Given the description of an element on the screen output the (x, y) to click on. 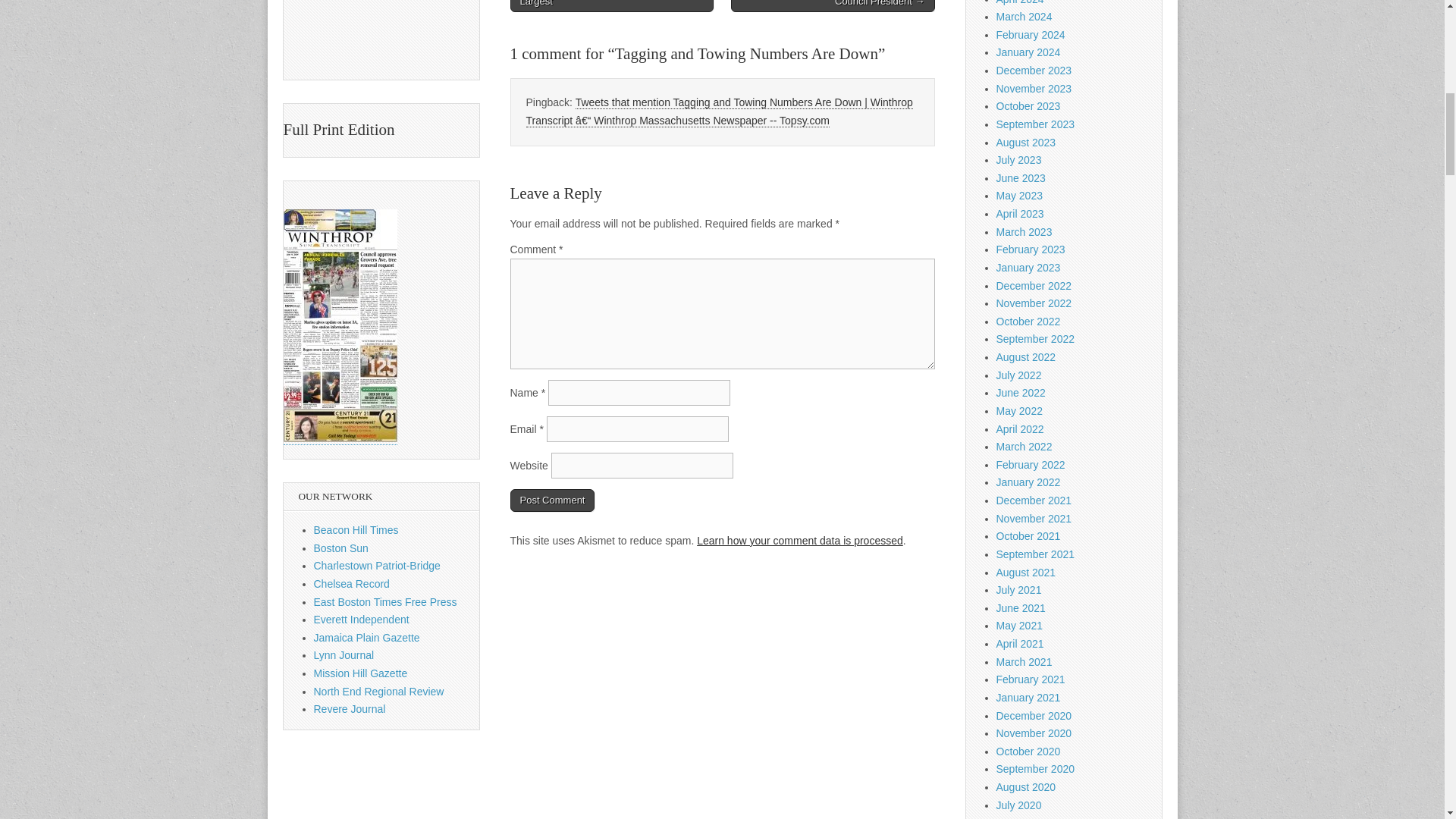
Post Comment (551, 499)
Jamaica Plain Gazette (367, 637)
Post Comment (551, 499)
Beacon Hill Times (356, 530)
Chelsea Record (352, 583)
Everett Independent (361, 619)
East Boston Times Free Press (385, 602)
Learn how your comment data is processed (799, 540)
Mission Hill Gazette (360, 673)
Boston Sun (341, 548)
Charlestown Patriot-Bridge (377, 565)
Revere Journal (349, 708)
Lynn Journal (344, 654)
North End Regional Review (379, 691)
